Given the description of an element on the screen output the (x, y) to click on. 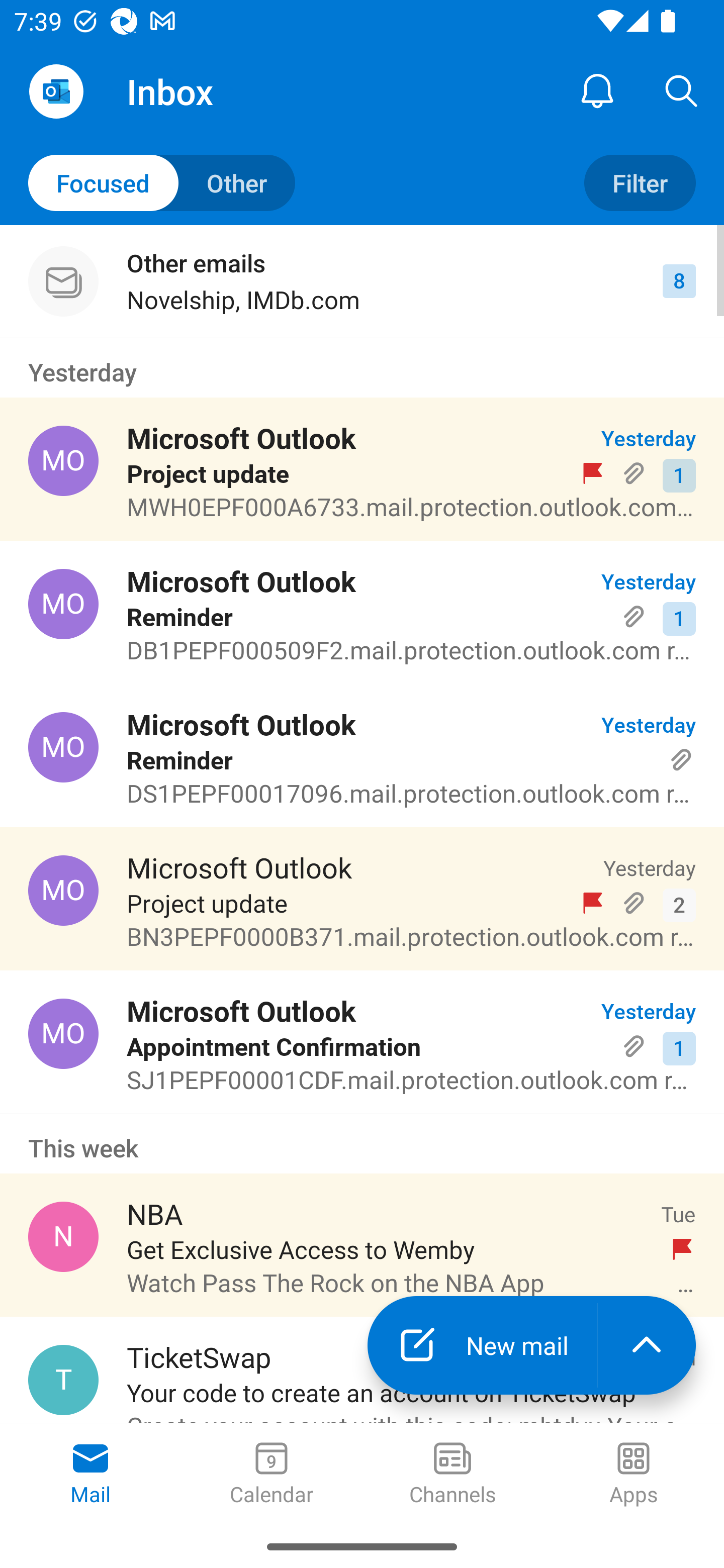
Notification Center (597, 90)
Search, ,  (681, 90)
Open Navigation Drawer (55, 91)
Toggle to other mails (161, 183)
Filter (639, 183)
Other emails Novelship, IMDb.com 8 (362, 281)
NBA, NBA@email.nba.com (63, 1236)
New mail (481, 1344)
launch the extended action menu (646, 1344)
TicketSwap, info@ticketswap.com (63, 1380)
Calendar (271, 1474)
Channels (452, 1474)
Apps (633, 1474)
